Given the description of an element on the screen output the (x, y) to click on. 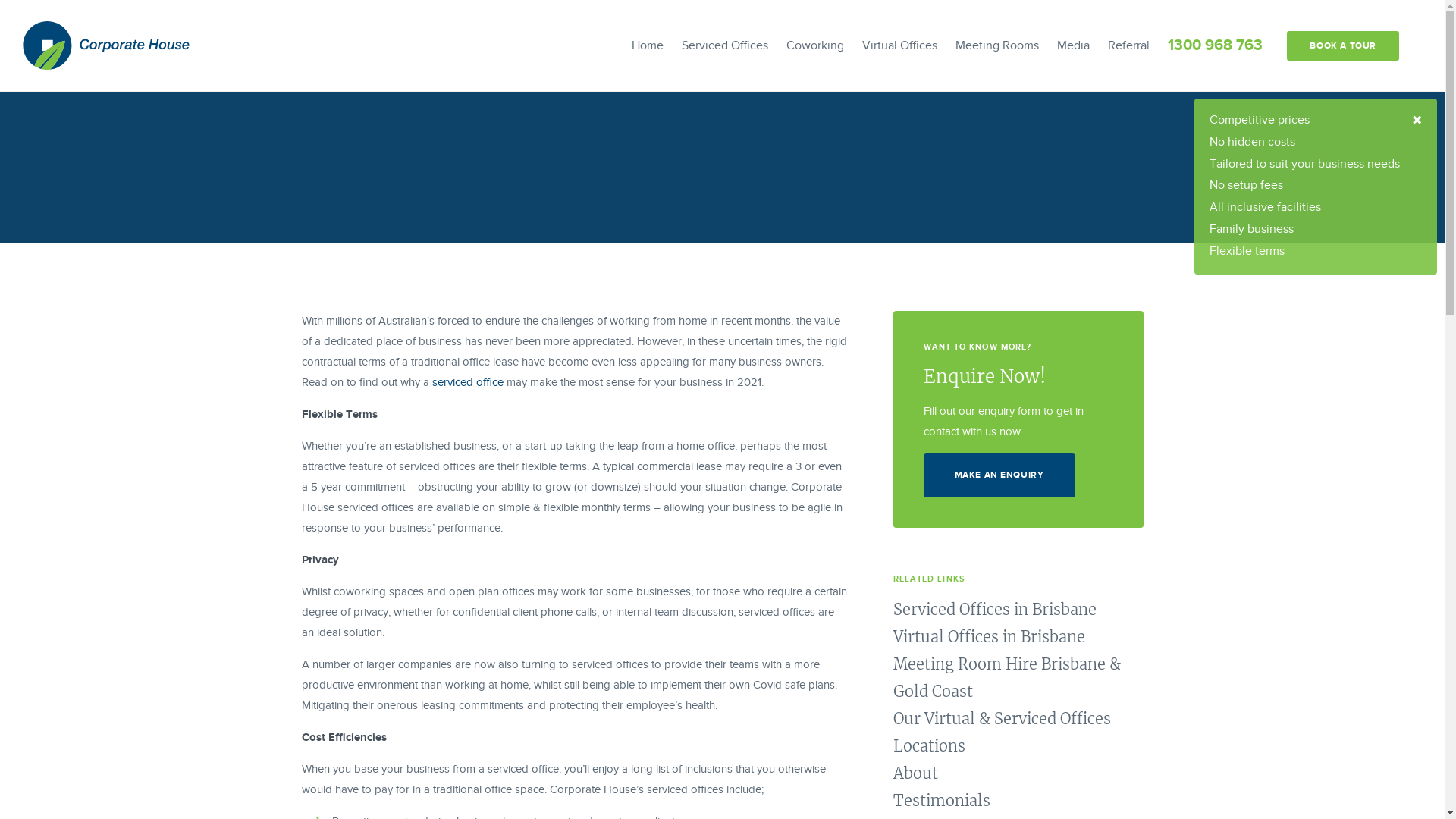
Virtual Offices Element type: text (899, 45)
Testimonials Element type: text (941, 799)
Media Element type: text (1073, 45)
Serviced Offices in Brisbane Element type: text (994, 608)
Our Virtual & Serviced Offices Locations Element type: text (1001, 732)
Virtual Offices in Brisbane Element type: text (989, 636)
serviced office Element type: text (467, 382)
Meeting Rooms Element type: text (997, 45)
Home Element type: text (647, 45)
About Element type: text (915, 772)
Meeting Room Hire Brisbane & Gold Coast Element type: text (1006, 677)
1300 968 763 Element type: text (1214, 45)
Serviced Offices Element type: text (724, 45)
Referral Element type: text (1128, 45)
MAKE AN ENQUIRY Element type: text (999, 475)
BOOK A TOUR Element type: text (1342, 45)
Coworking Element type: text (815, 45)
